Given the description of an element on the screen output the (x, y) to click on. 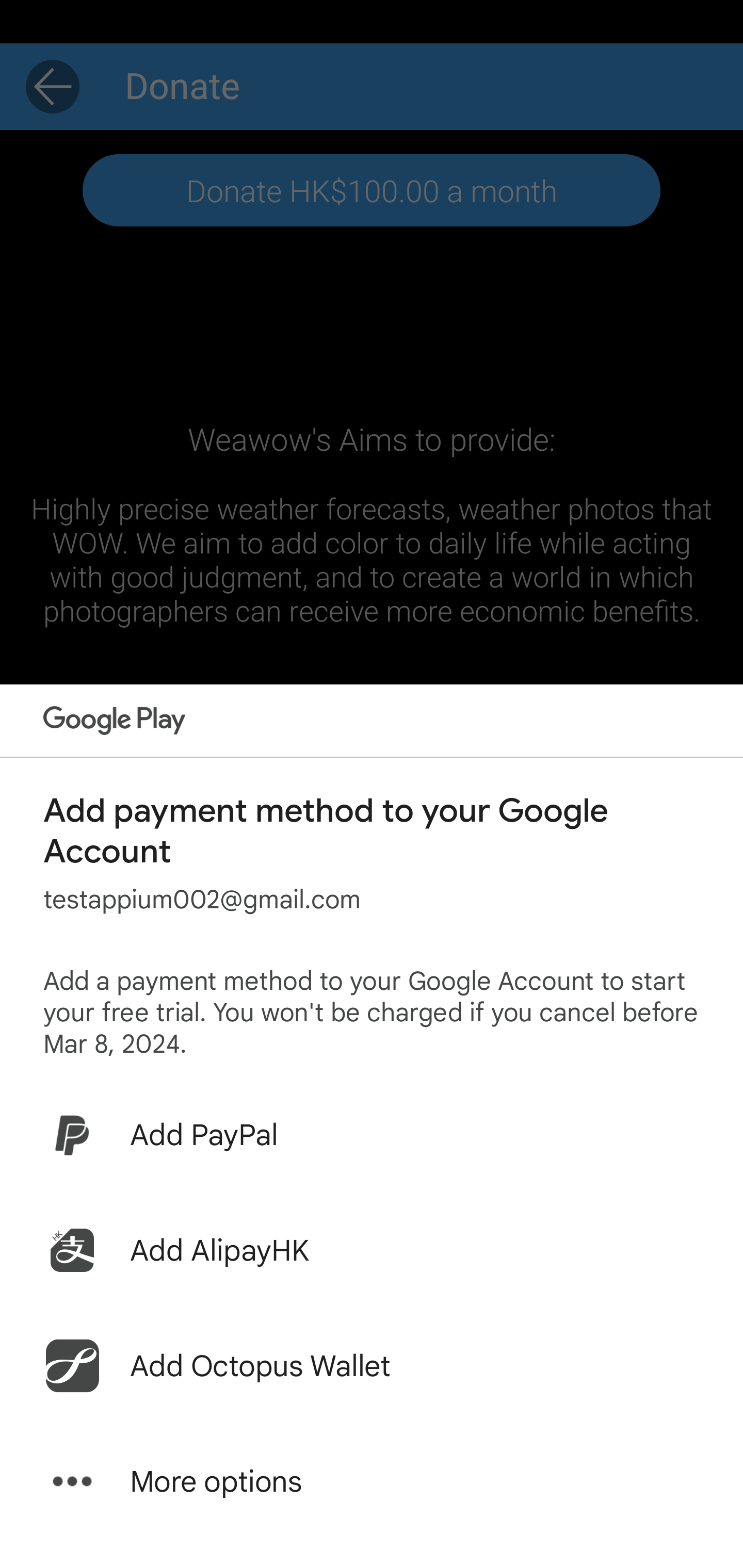
Add PayPal (371, 1135)
Add AlipayHK (371, 1250)
Add Octopus Wallet (371, 1365)
More options (371, 1481)
